Given the description of an element on the screen output the (x, y) to click on. 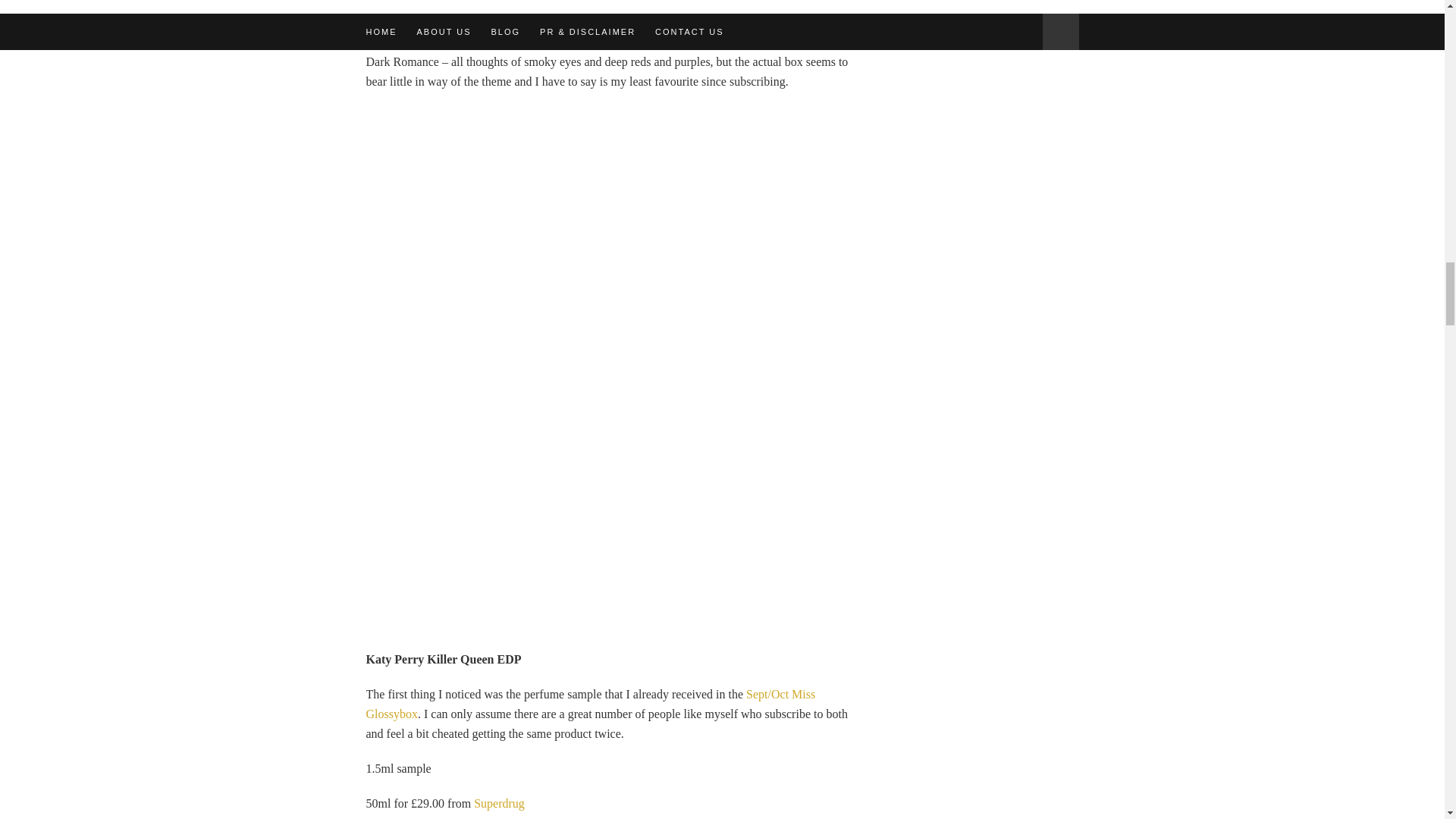
Glossybox (665, 42)
preview pictures (455, 42)
Superdrug (499, 802)
